Given the description of an element on the screen output the (x, y) to click on. 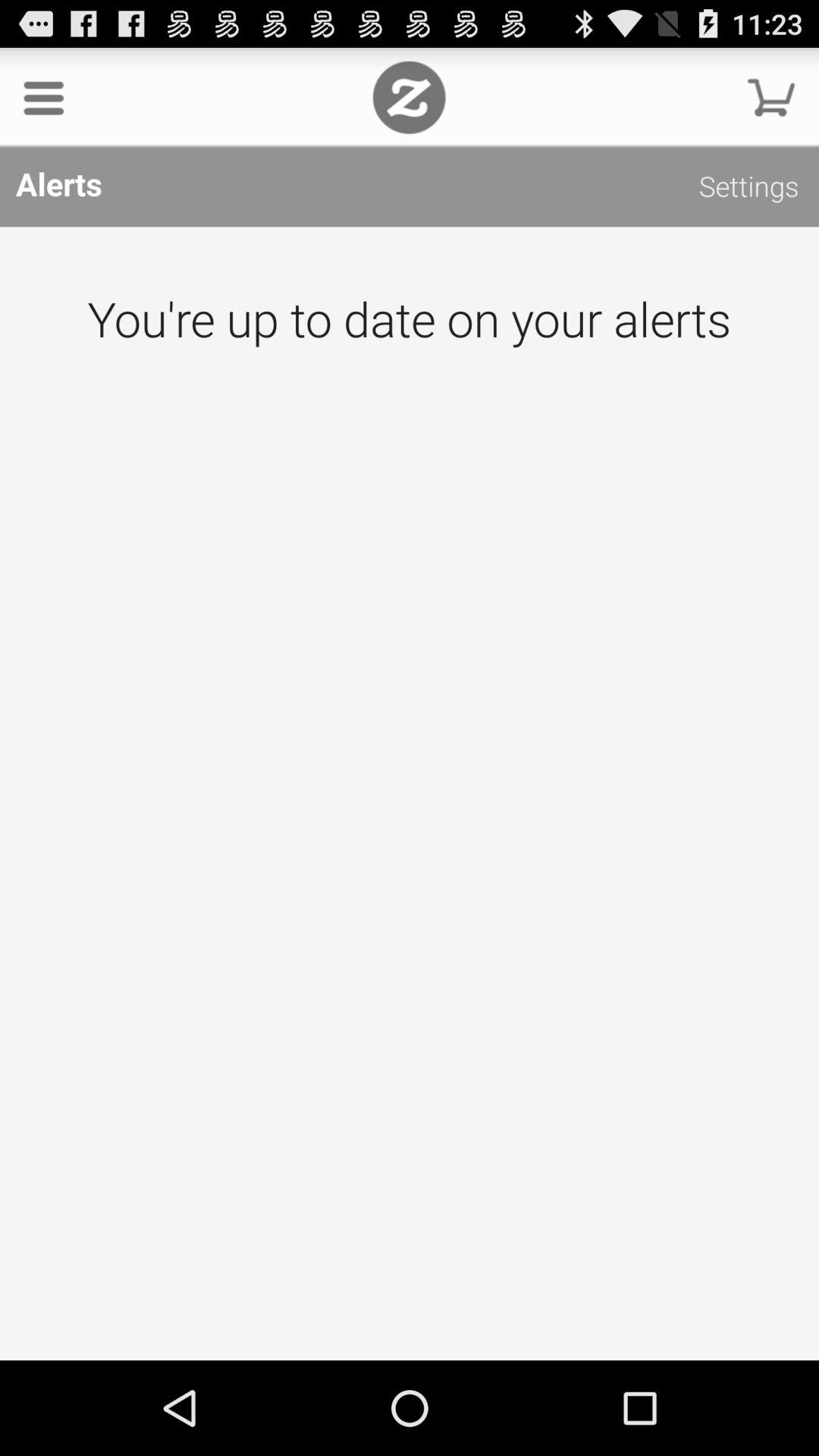
select alert (409, 793)
